Given the description of an element on the screen output the (x, y) to click on. 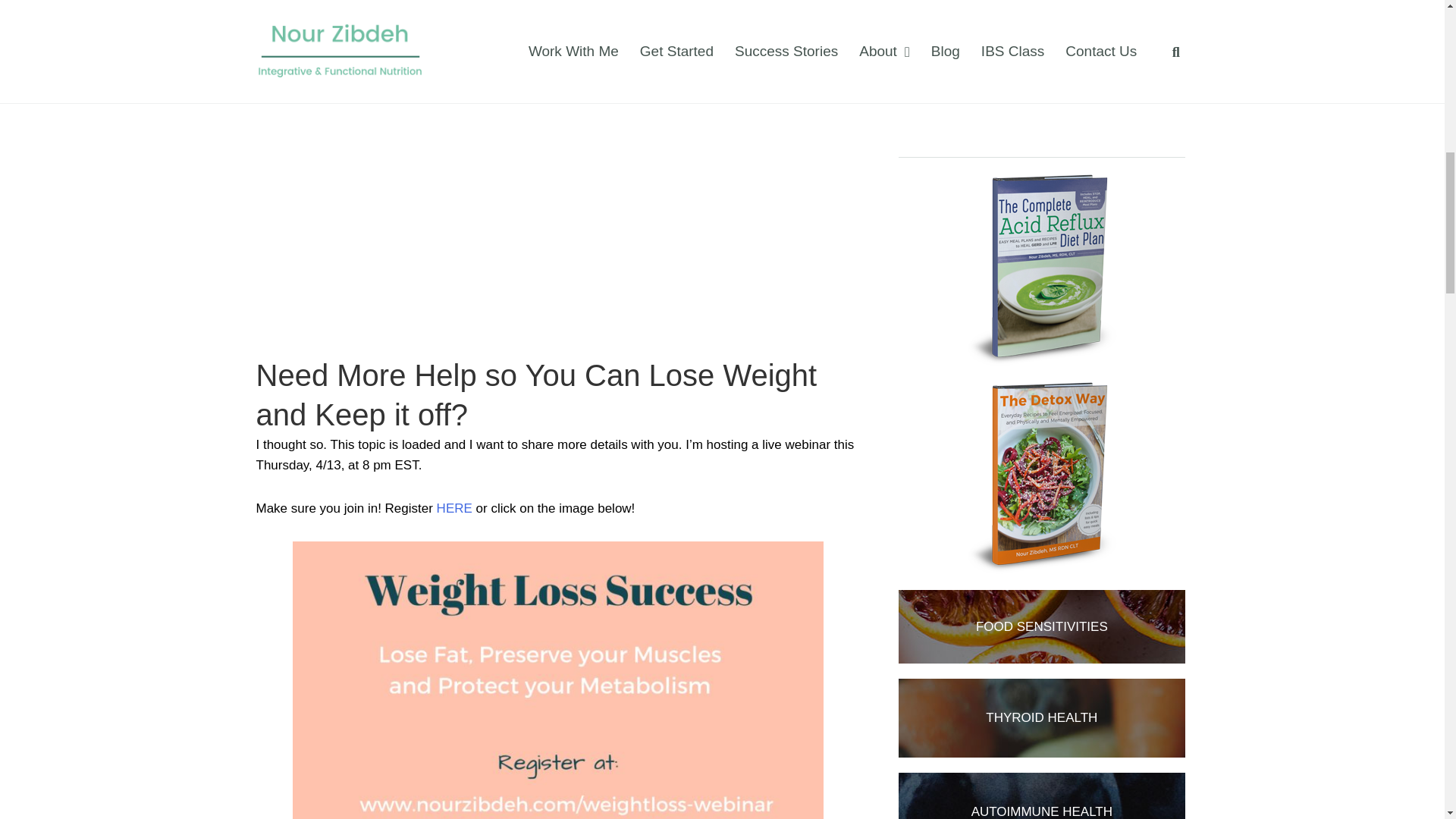
HERE (453, 508)
